Given the description of an element on the screen output the (x, y) to click on. 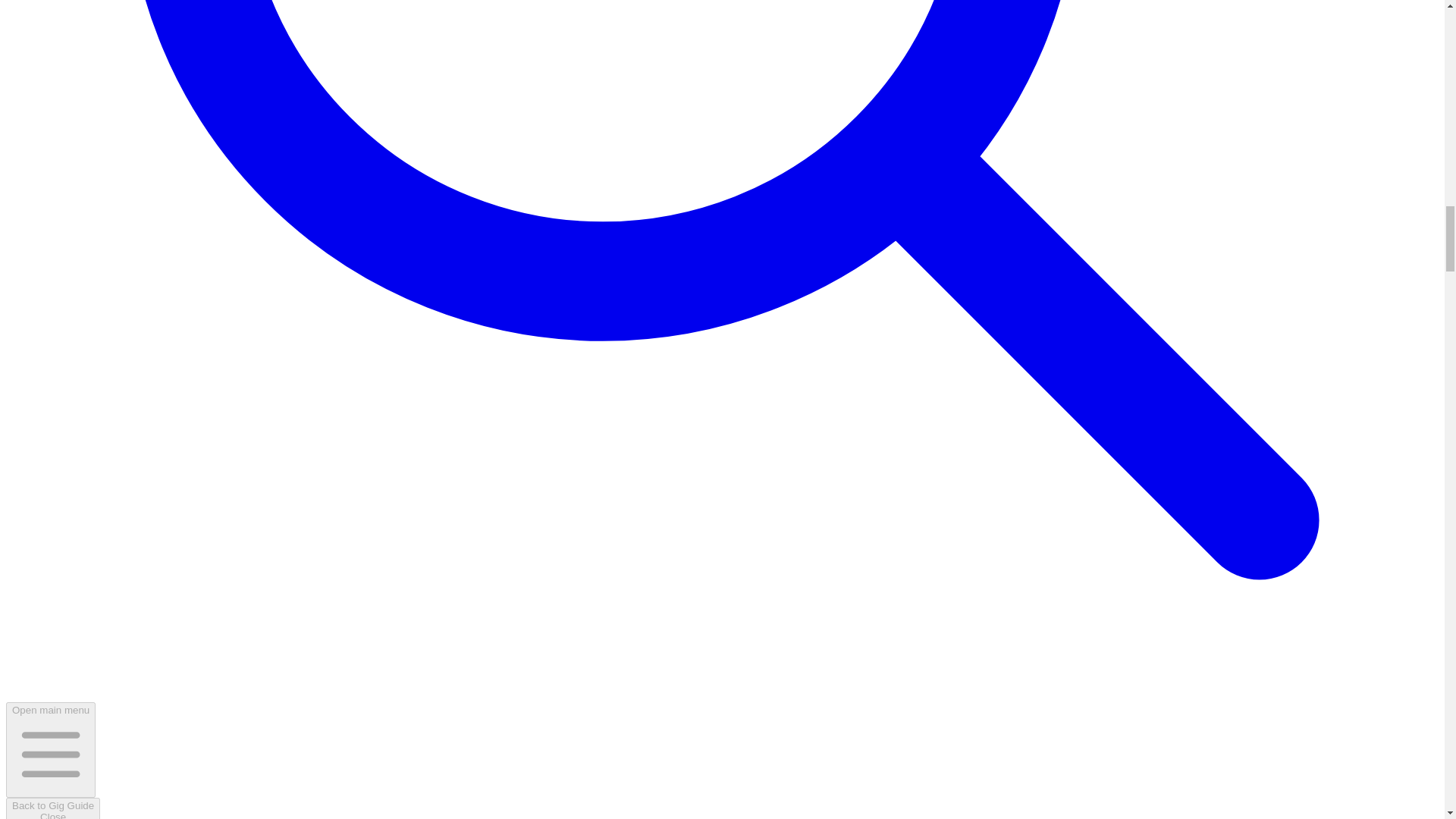
Open main menu (52, 808)
